Given the description of an element on the screen output the (x, y) to click on. 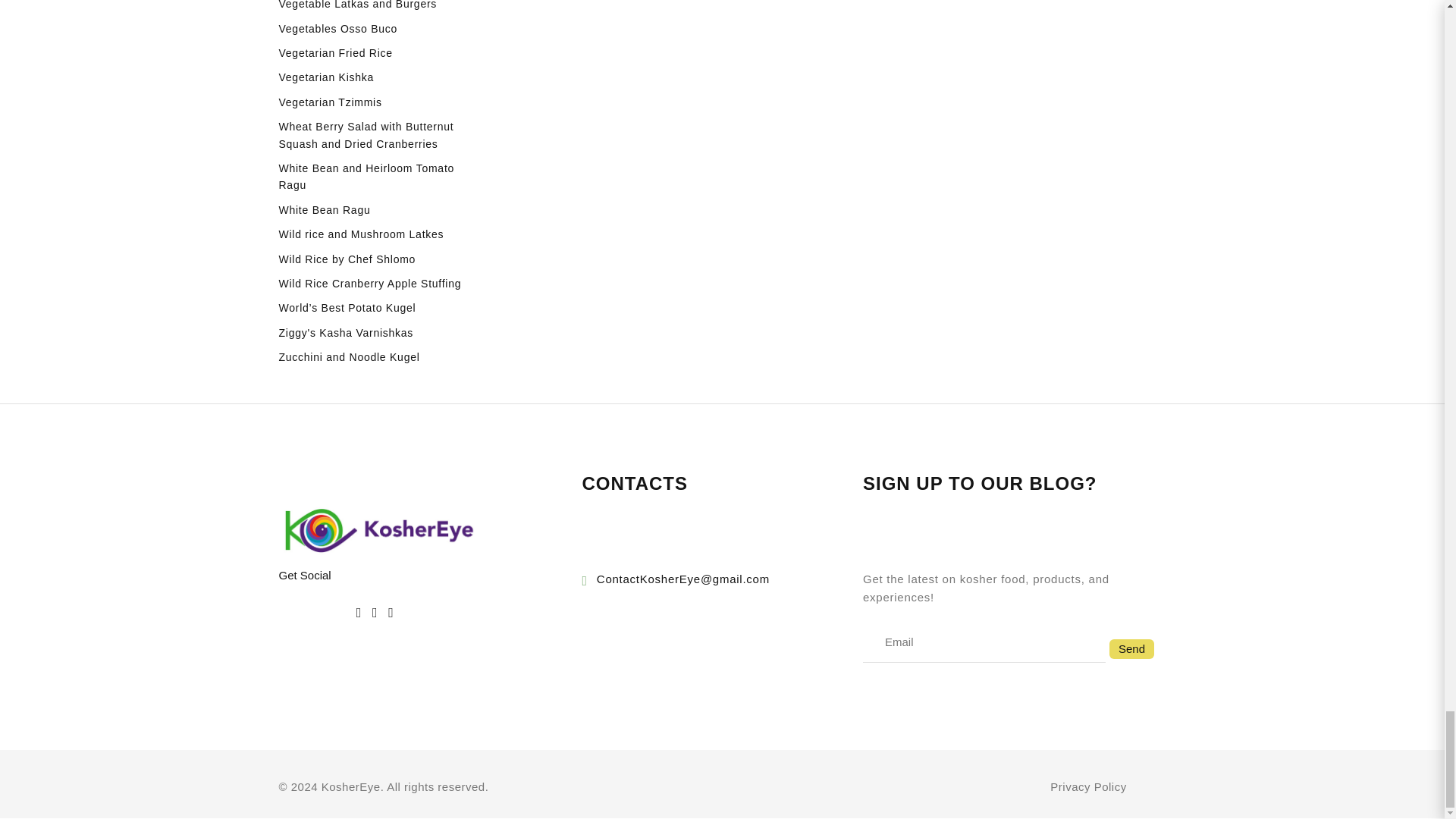
Send (1131, 649)
